Given the description of an element on the screen output the (x, y) to click on. 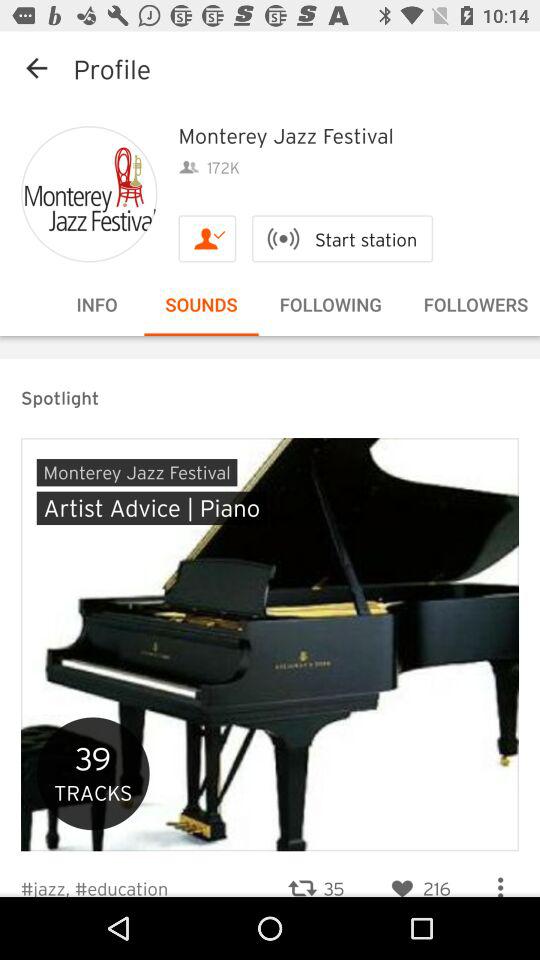
open home page (89, 194)
